Given the description of an element on the screen output the (x, y) to click on. 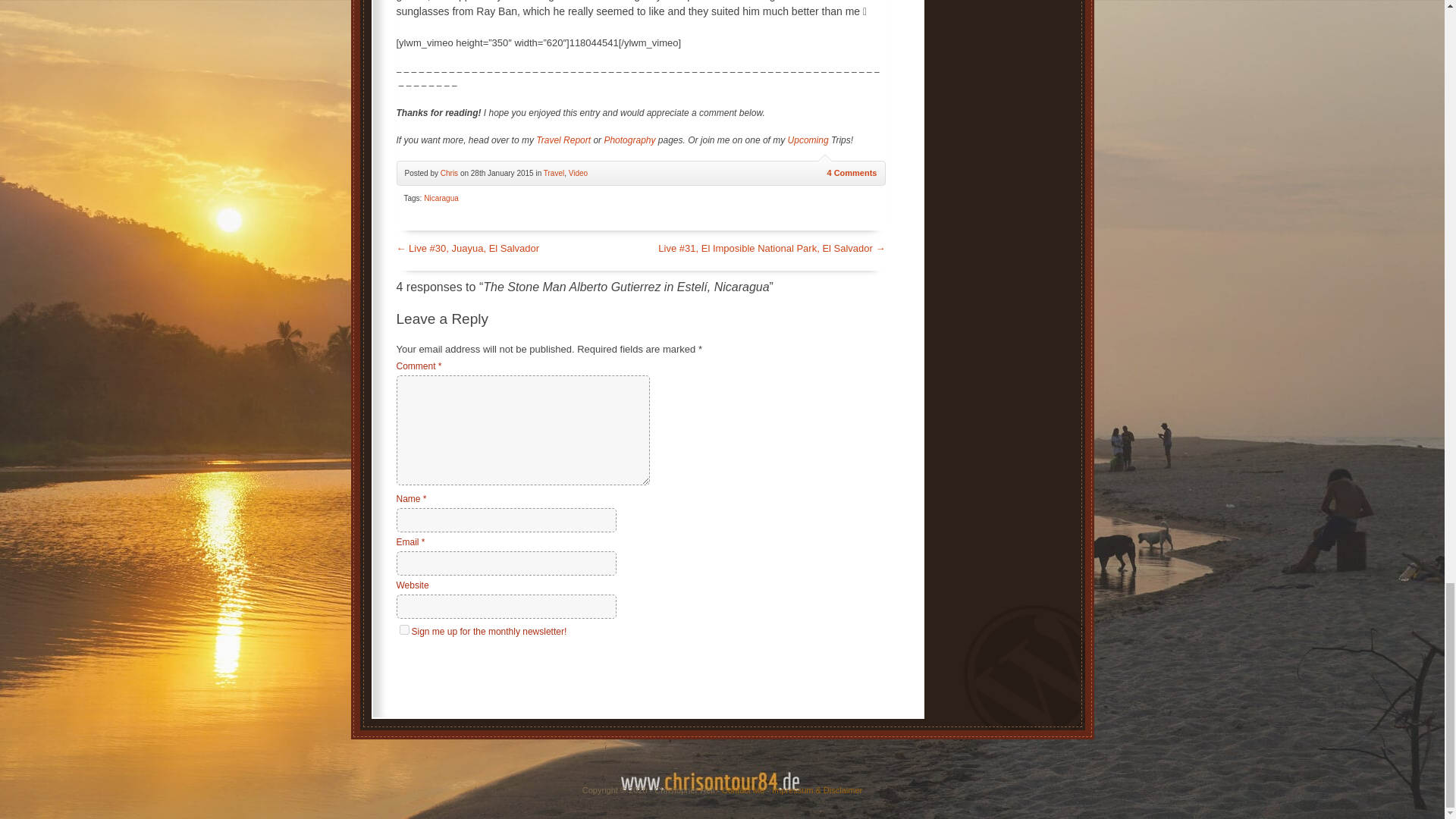
1 (403, 629)
Posts by Chris (449, 172)
Post Comment (441, 667)
